Given the description of an element on the screen output the (x, y) to click on. 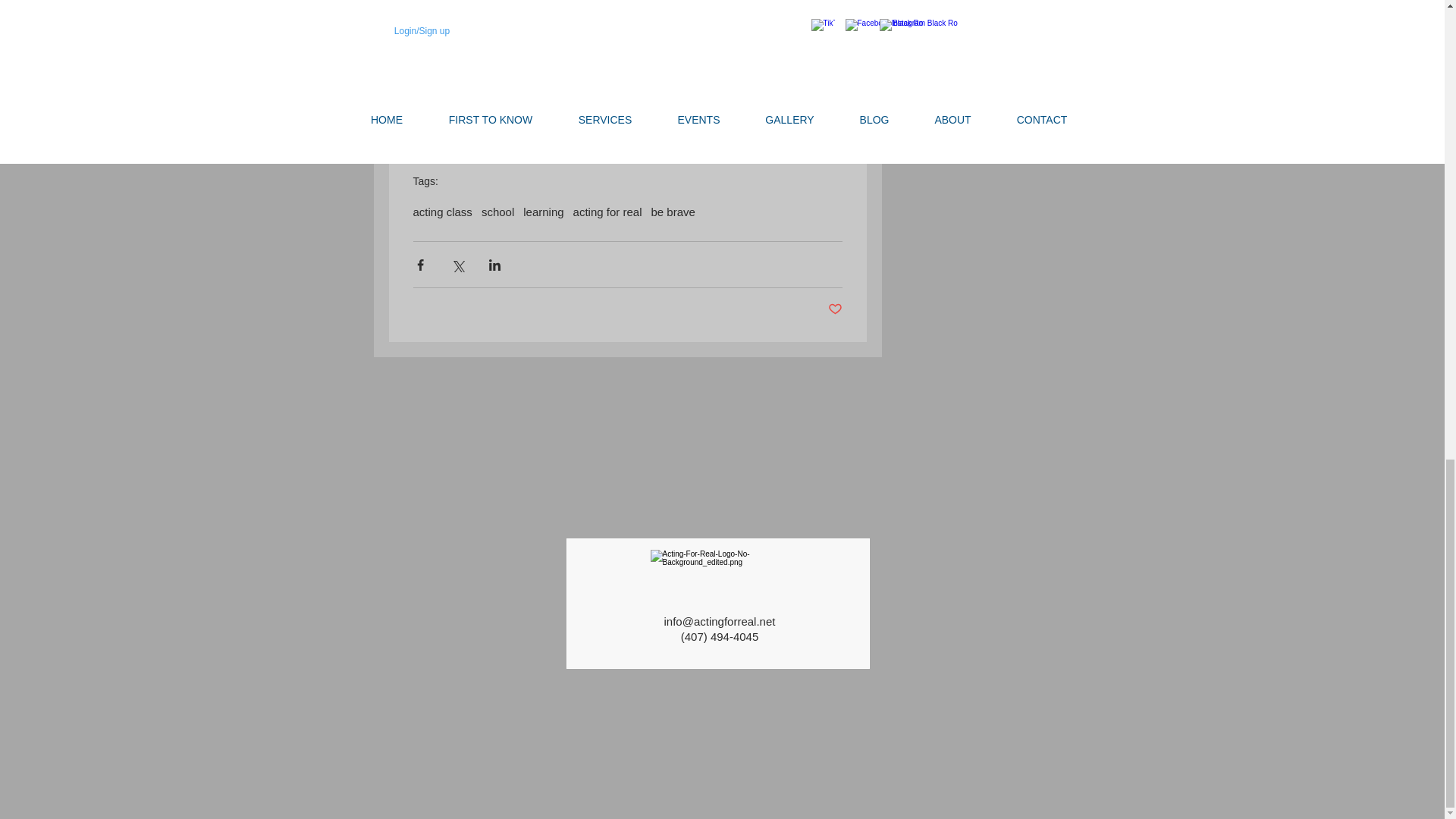
acting for real (607, 211)
school (497, 211)
Post not marked as liked (835, 309)
learning (542, 211)
acting class (441, 211)
be brave (672, 211)
